Given the description of an element on the screen output the (x, y) to click on. 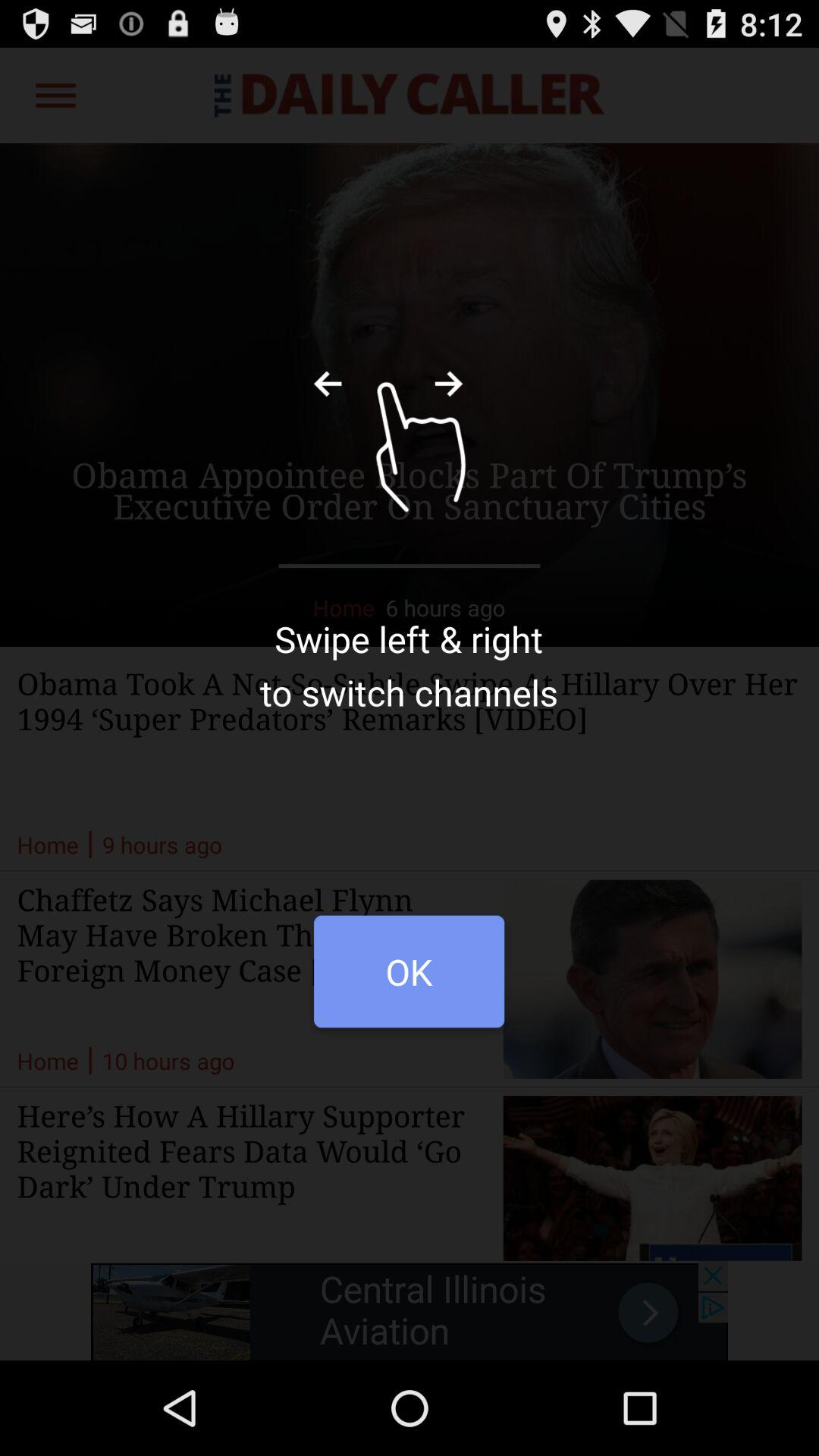
open the ok icon (408, 979)
